Given the description of an element on the screen output the (x, y) to click on. 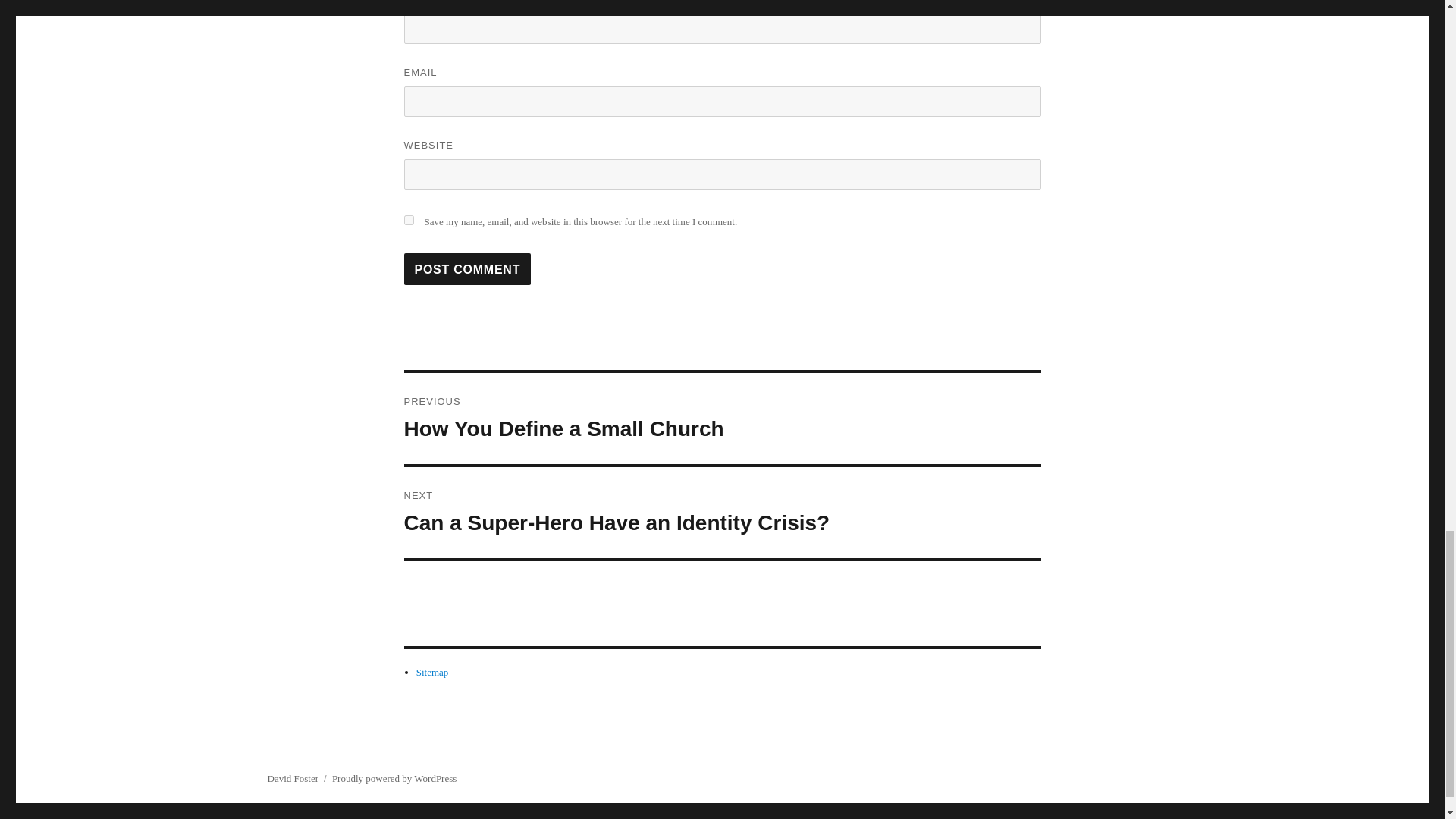
Post Comment (467, 269)
Post Comment (722, 511)
Sitemap (467, 269)
yes (722, 418)
Proudly powered by WordPress (432, 672)
David Foster (408, 220)
Sitemap (394, 778)
